Given the description of an element on the screen output the (x, y) to click on. 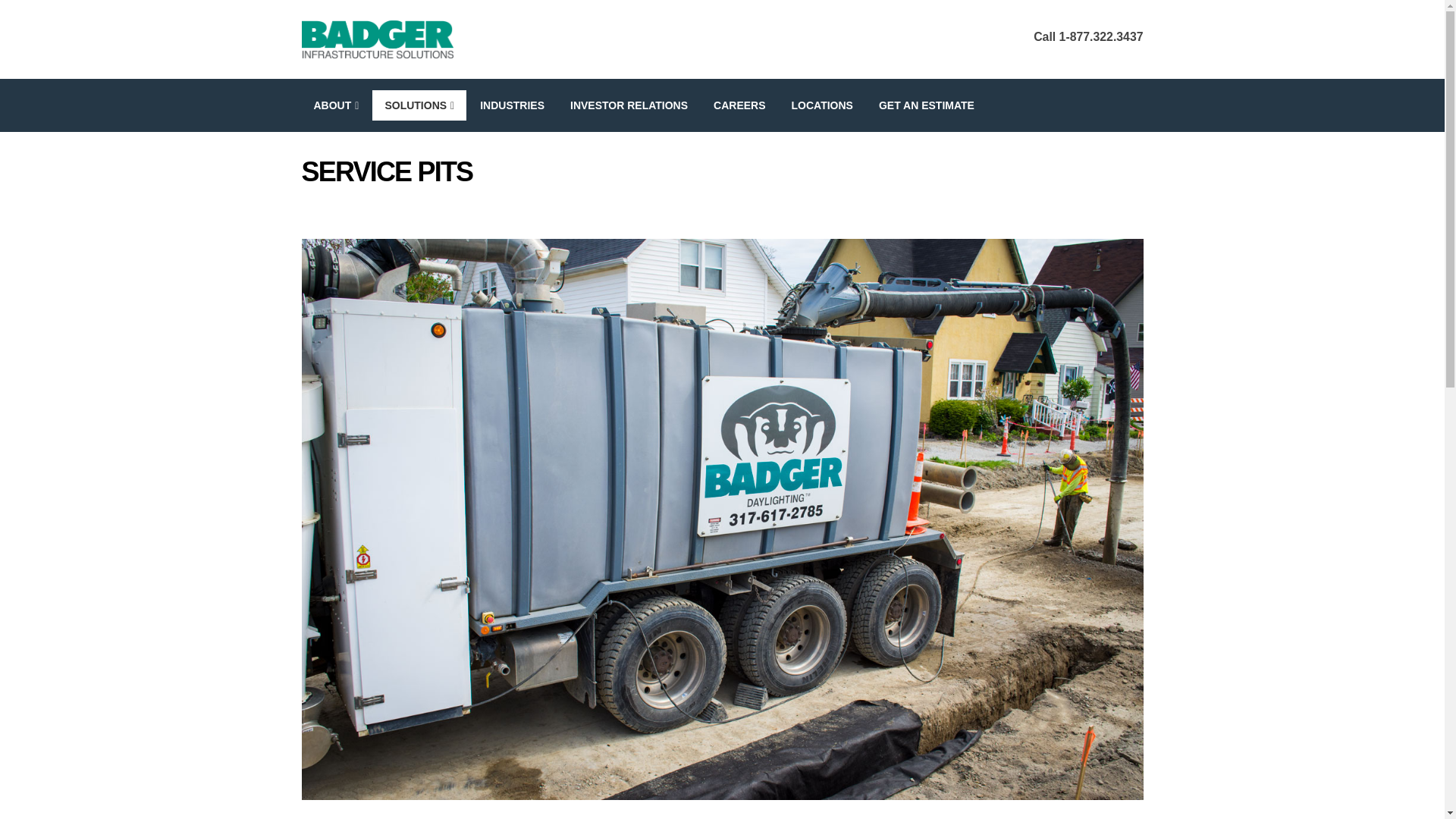
ABOUT (336, 105)
Call 1-877.322.3437 (1087, 36)
